Given the description of an element on the screen output the (x, y) to click on. 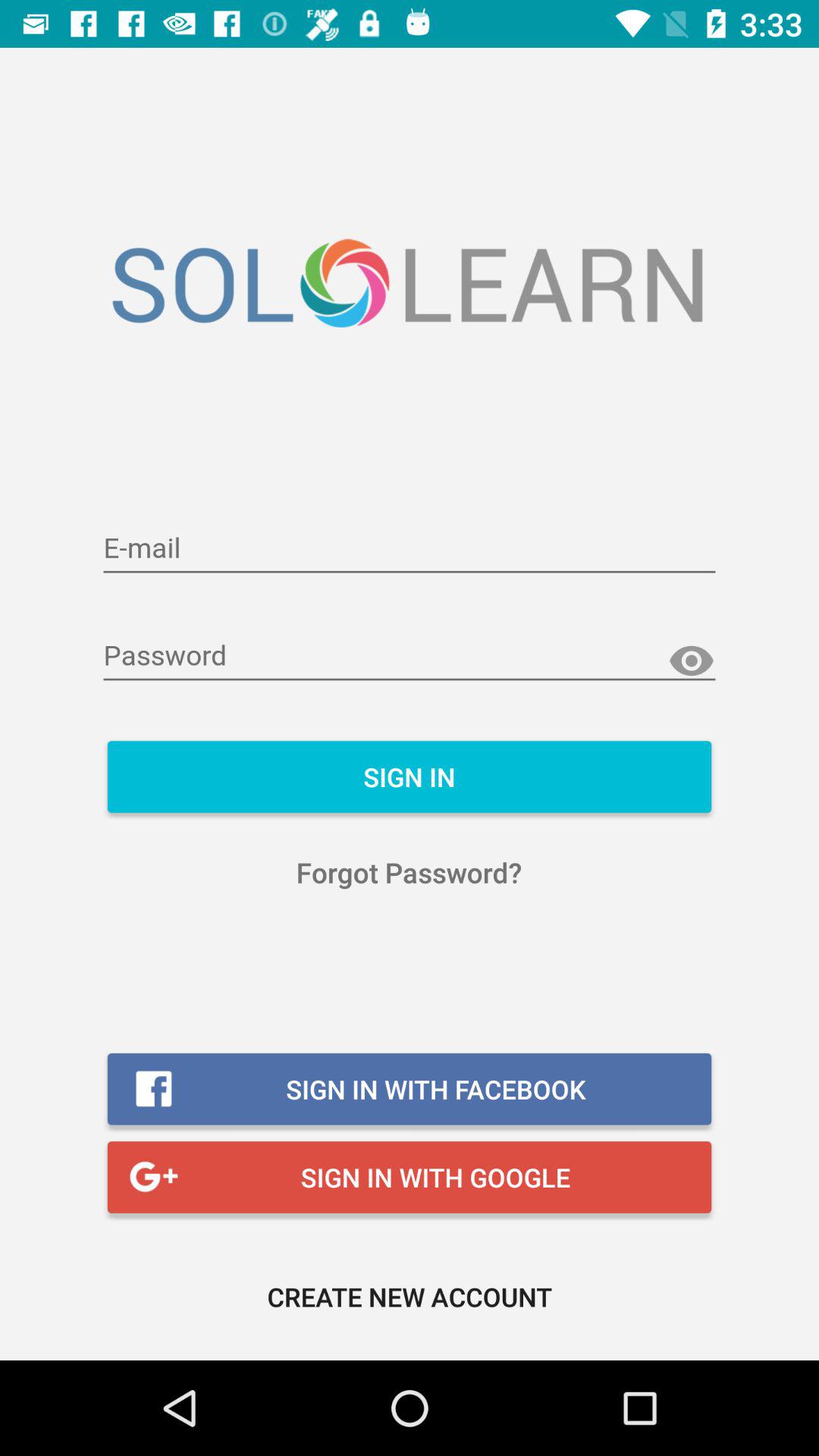
open item above sign in with (409, 872)
